Given the description of an element on the screen output the (x, y) to click on. 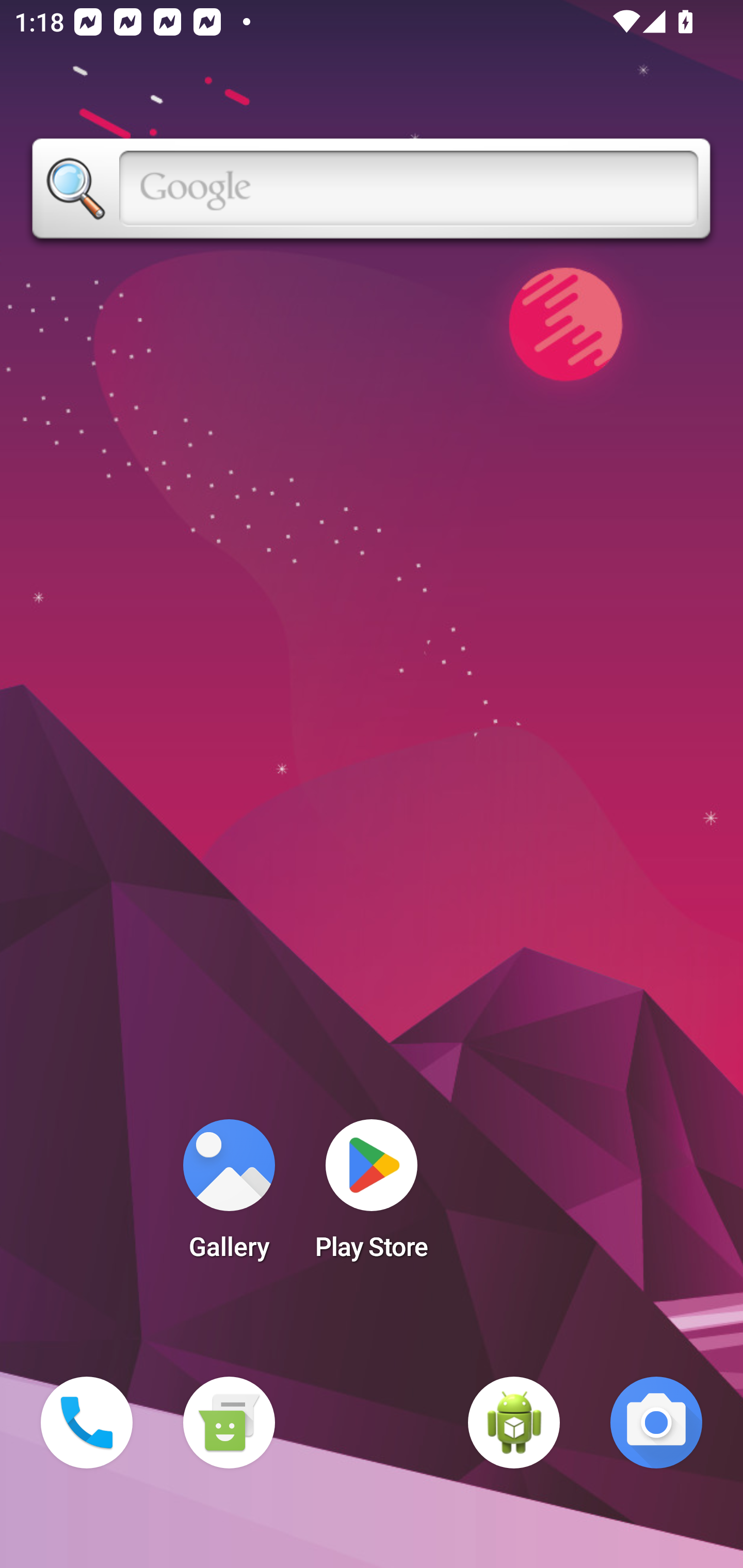
Gallery (228, 1195)
Play Store (371, 1195)
Phone (86, 1422)
Messaging (228, 1422)
WebView Browser Tester (513, 1422)
Camera (656, 1422)
